Given the description of an element on the screen output the (x, y) to click on. 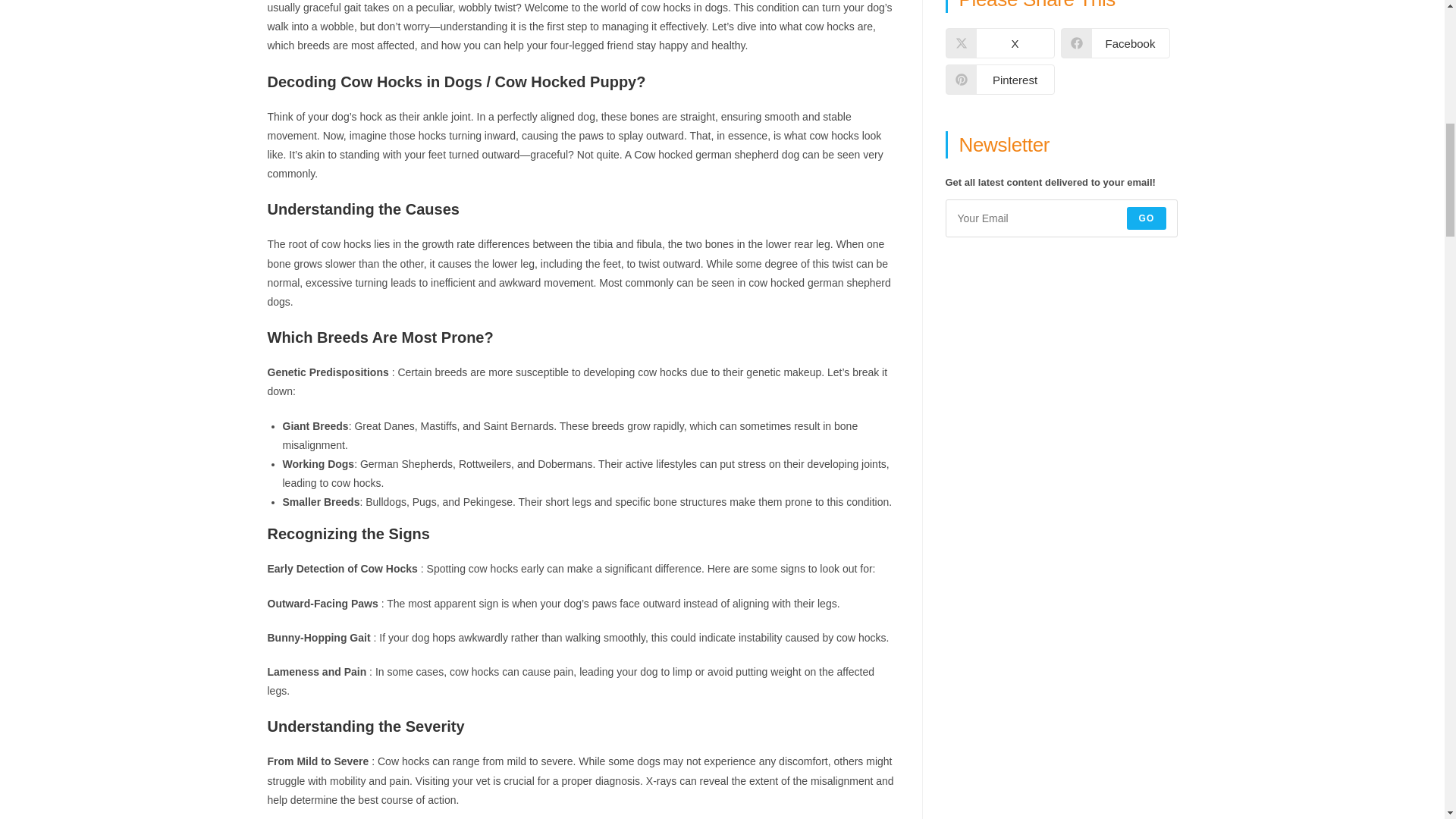
Share on X (999, 42)
Share on Pinterest (999, 79)
Share on Facebook (1114, 42)
